Given the description of an element on the screen output the (x, y) to click on. 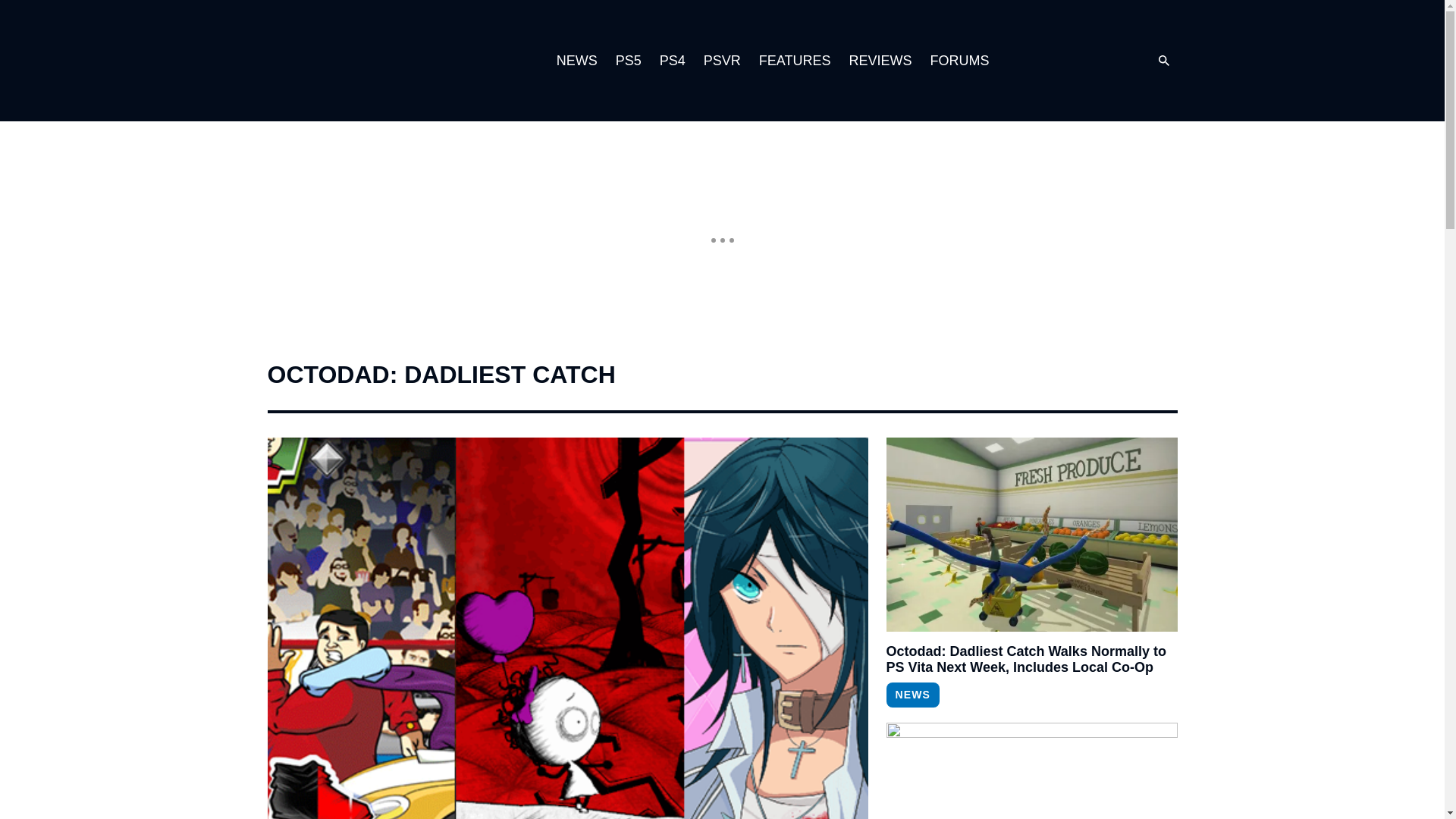
Facebook (1109, 60)
FEATURES (794, 60)
REVIEWS (880, 60)
Twitter (1079, 60)
FORUMS (958, 60)
PSVR (721, 60)
NEWS (912, 694)
Instagram (1048, 60)
NEWS (577, 60)
